Given the description of an element on the screen output the (x, y) to click on. 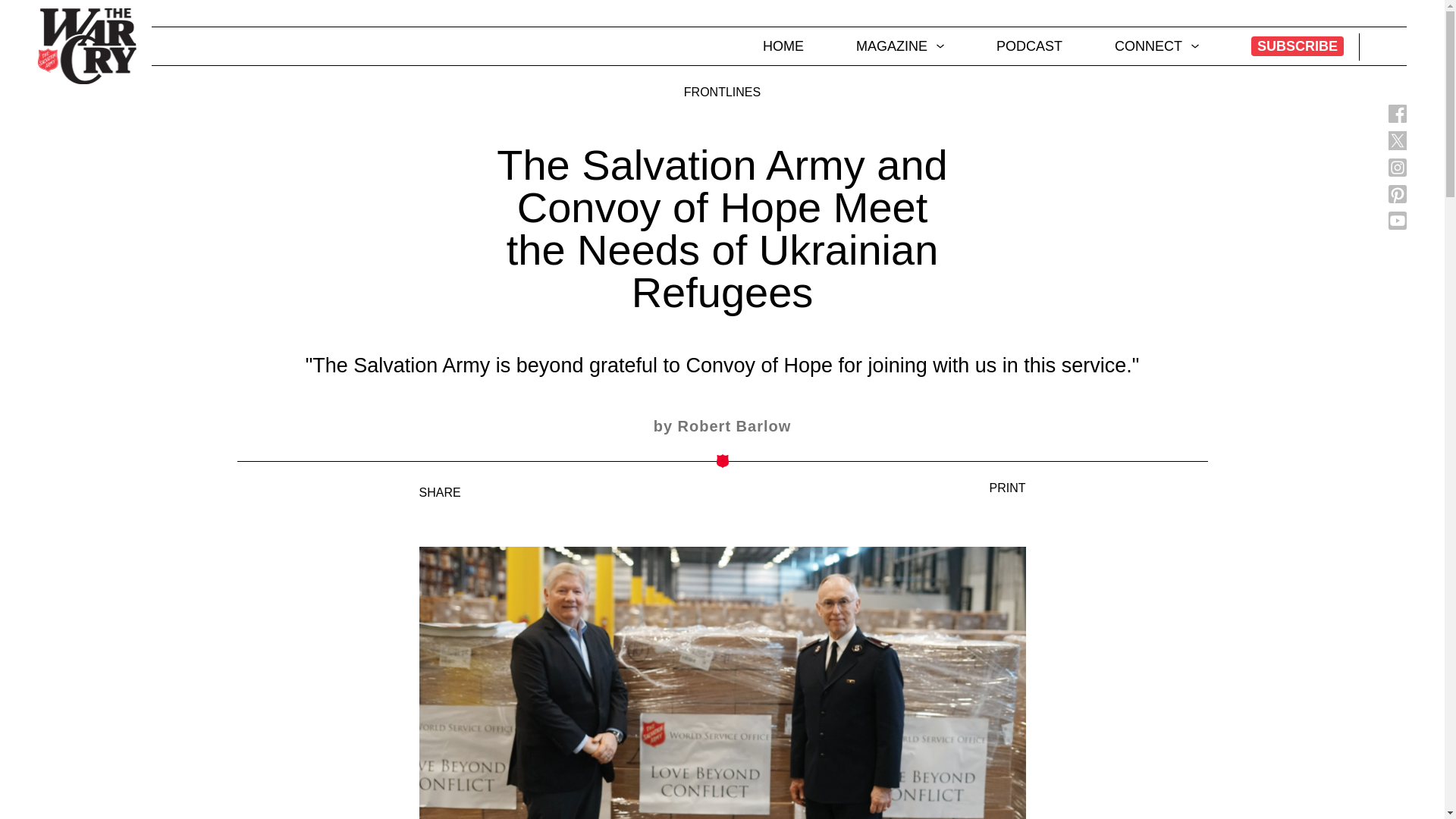
PRINT (999, 487)
SUBSCRIBE (1296, 46)
HOME (782, 46)
PODCAST (1028, 46)
